Given the description of an element on the screen output the (x, y) to click on. 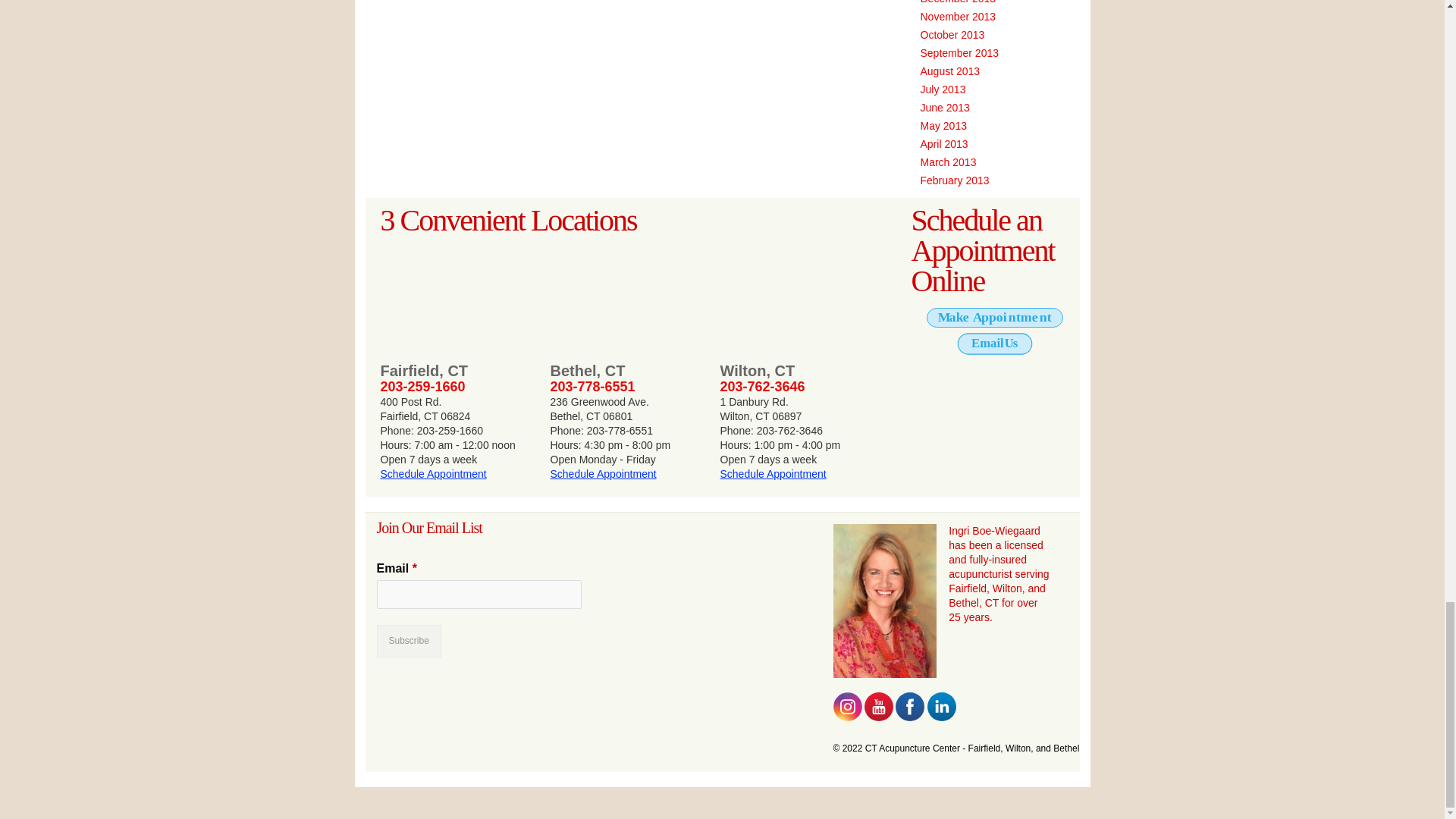
Wilson, CT Location Video (797, 297)
Bethel, CT Location Video (627, 297)
Fairfield, CT Location (457, 297)
